Given the description of an element on the screen output the (x, y) to click on. 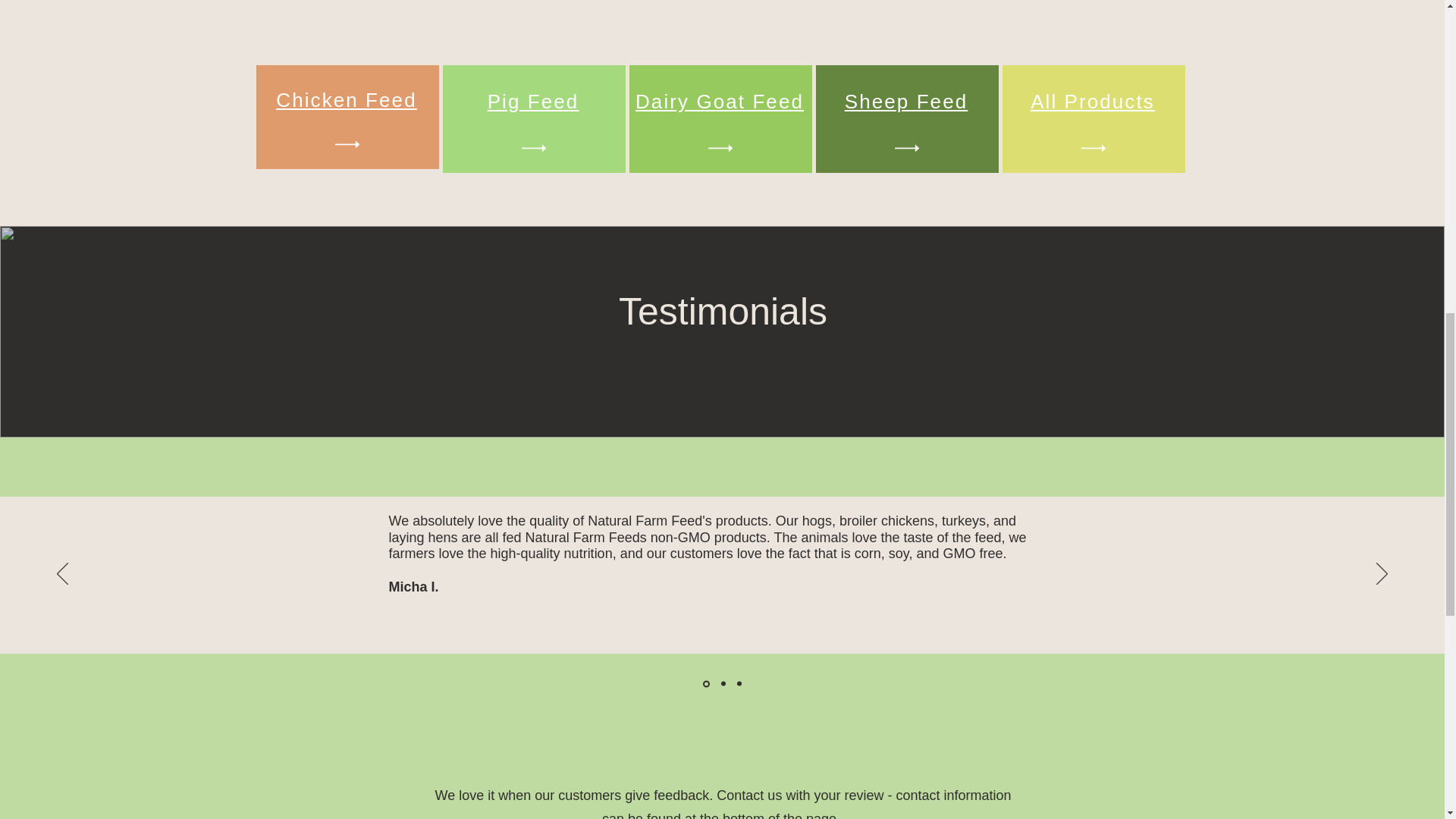
Sheep Feed (906, 101)
All Products (1092, 101)
Dairy Goat Feed (718, 101)
Pig Feed (533, 101)
Chicken Feed (346, 99)
